Given the description of an element on the screen output the (x, y) to click on. 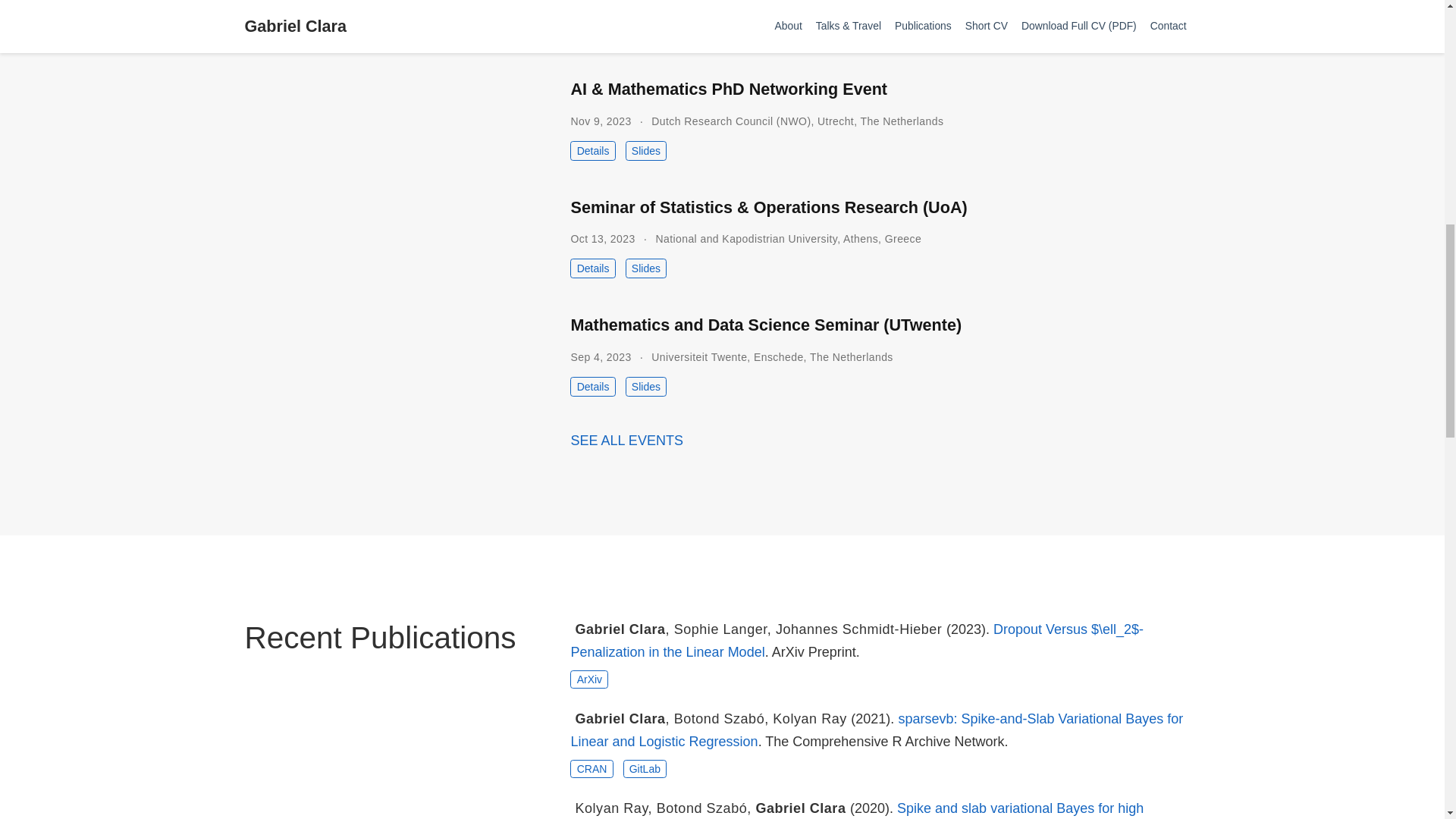
ArXiv (589, 679)
Slides (646, 150)
GitLab (644, 769)
SEE ALL EVENTS (626, 440)
Details (592, 150)
Slides (646, 386)
Slides (646, 268)
CRAN (591, 769)
Details (592, 32)
